Given the description of an element on the screen output the (x, y) to click on. 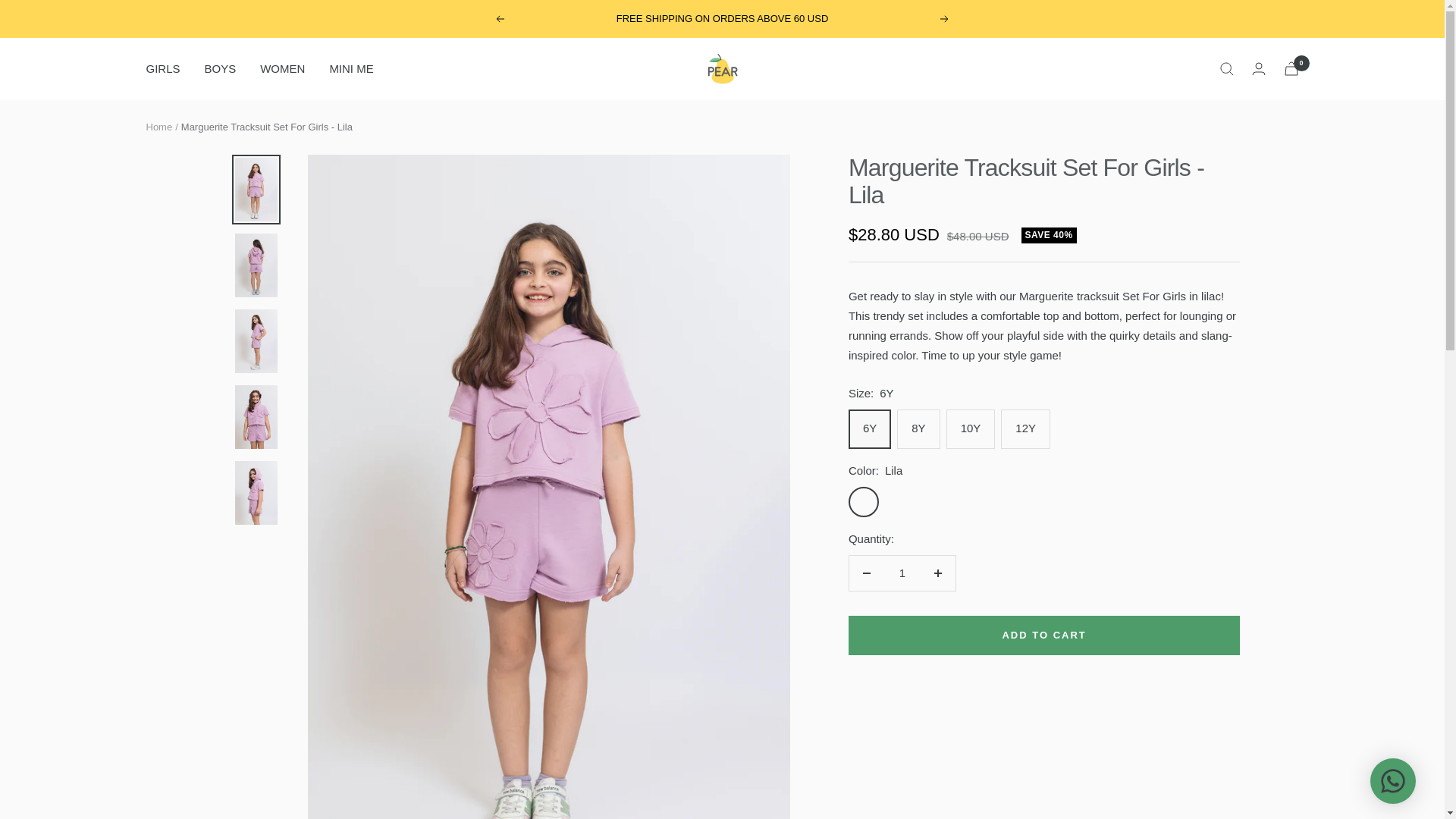
Next (944, 18)
Decrease quantity (865, 573)
Previous (499, 18)
MINI ME (350, 68)
1 (901, 573)
Pear (721, 69)
